Given the description of an element on the screen output the (x, y) to click on. 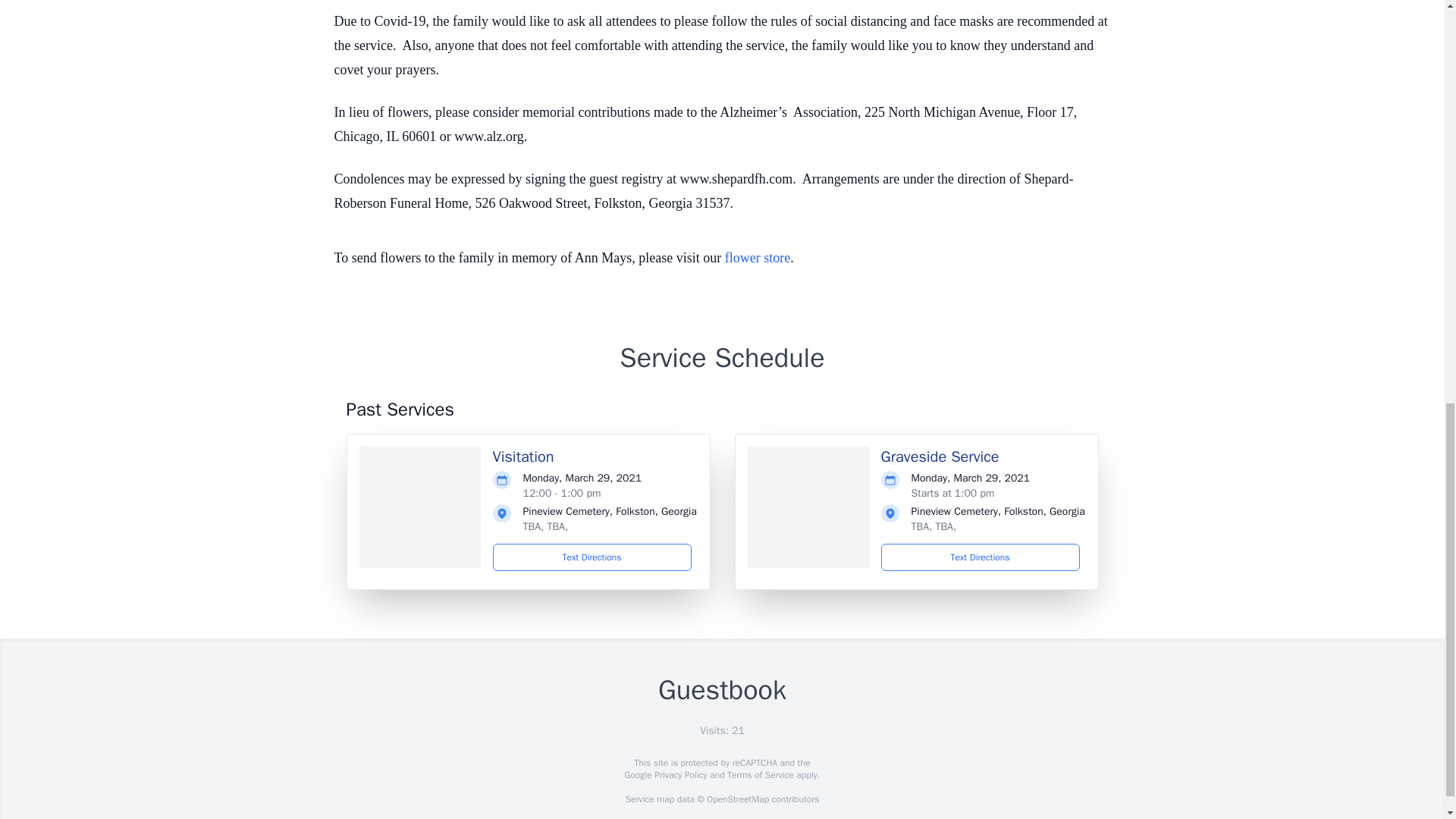
OpenStreetMap (737, 799)
TBA, TBA, (933, 526)
Text Directions (980, 556)
flower store (757, 257)
Text Directions (592, 556)
TBA, TBA, (545, 526)
Terms of Service (759, 775)
Privacy Policy (679, 775)
